Given the description of an element on the screen output the (x, y) to click on. 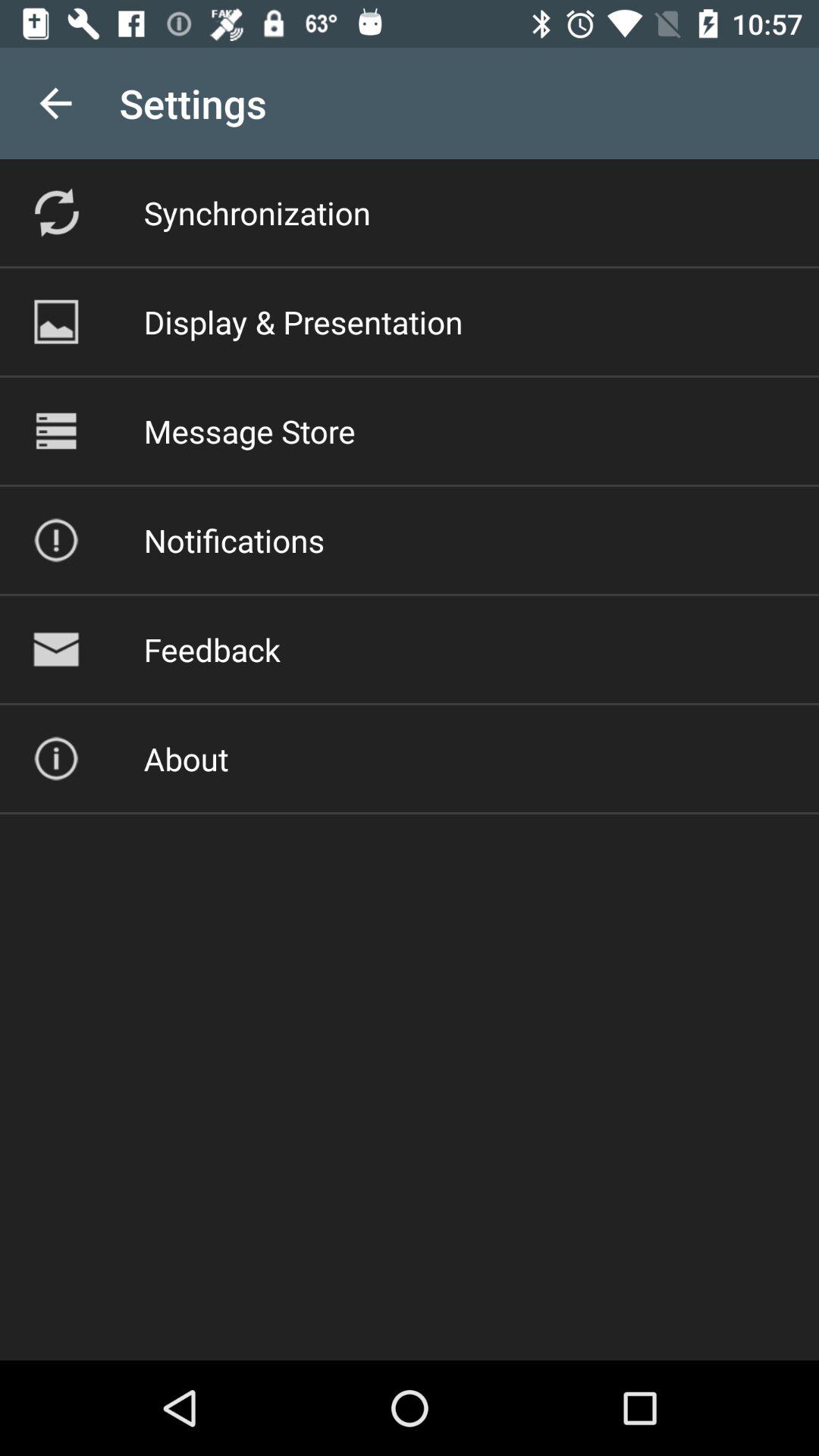
click the feedback (211, 649)
